Given the description of an element on the screen output the (x, y) to click on. 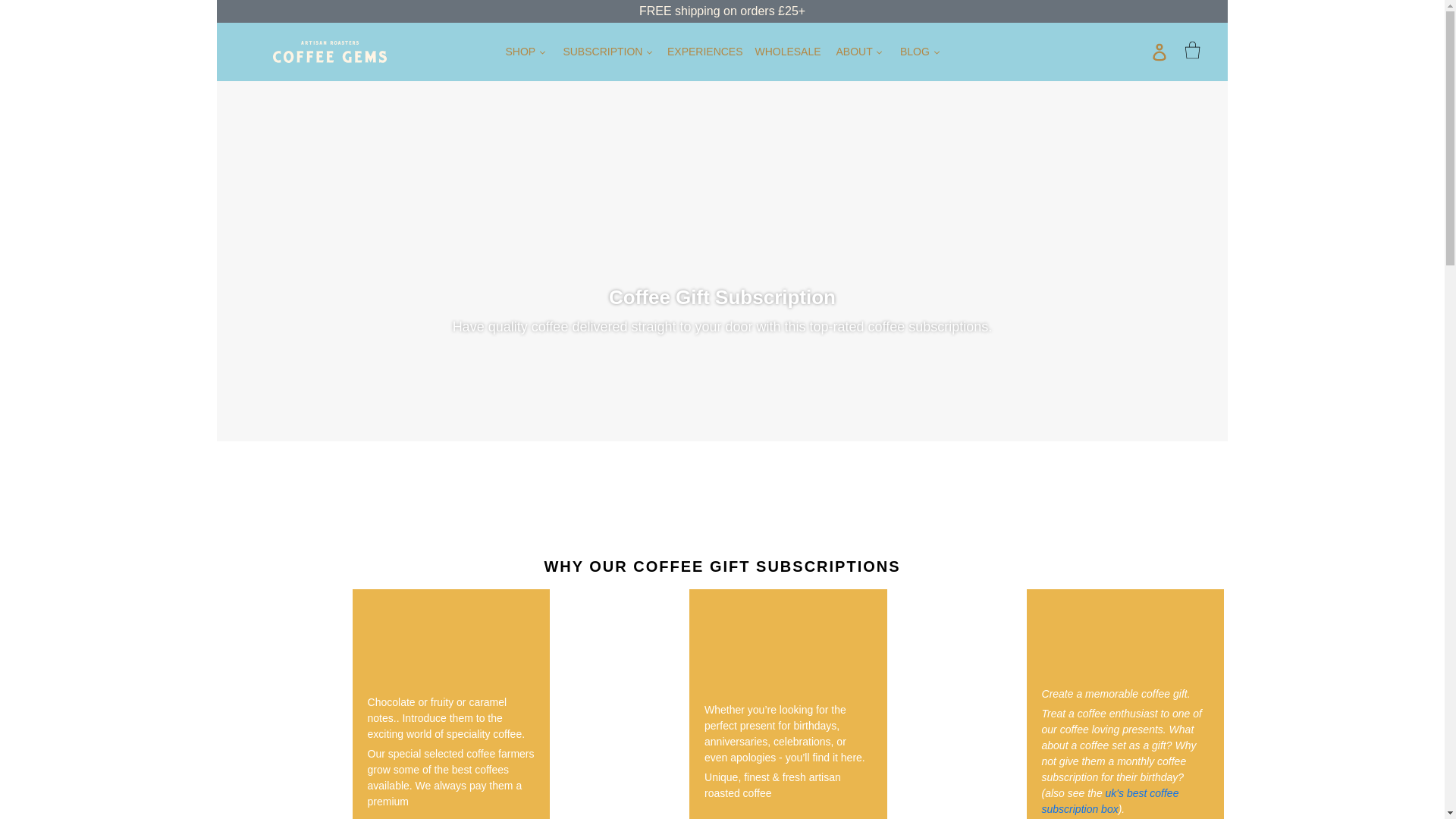
WHOLESALE (787, 51)
EXPERIENCES (705, 51)
